Given the description of an element on the screen output the (x, y) to click on. 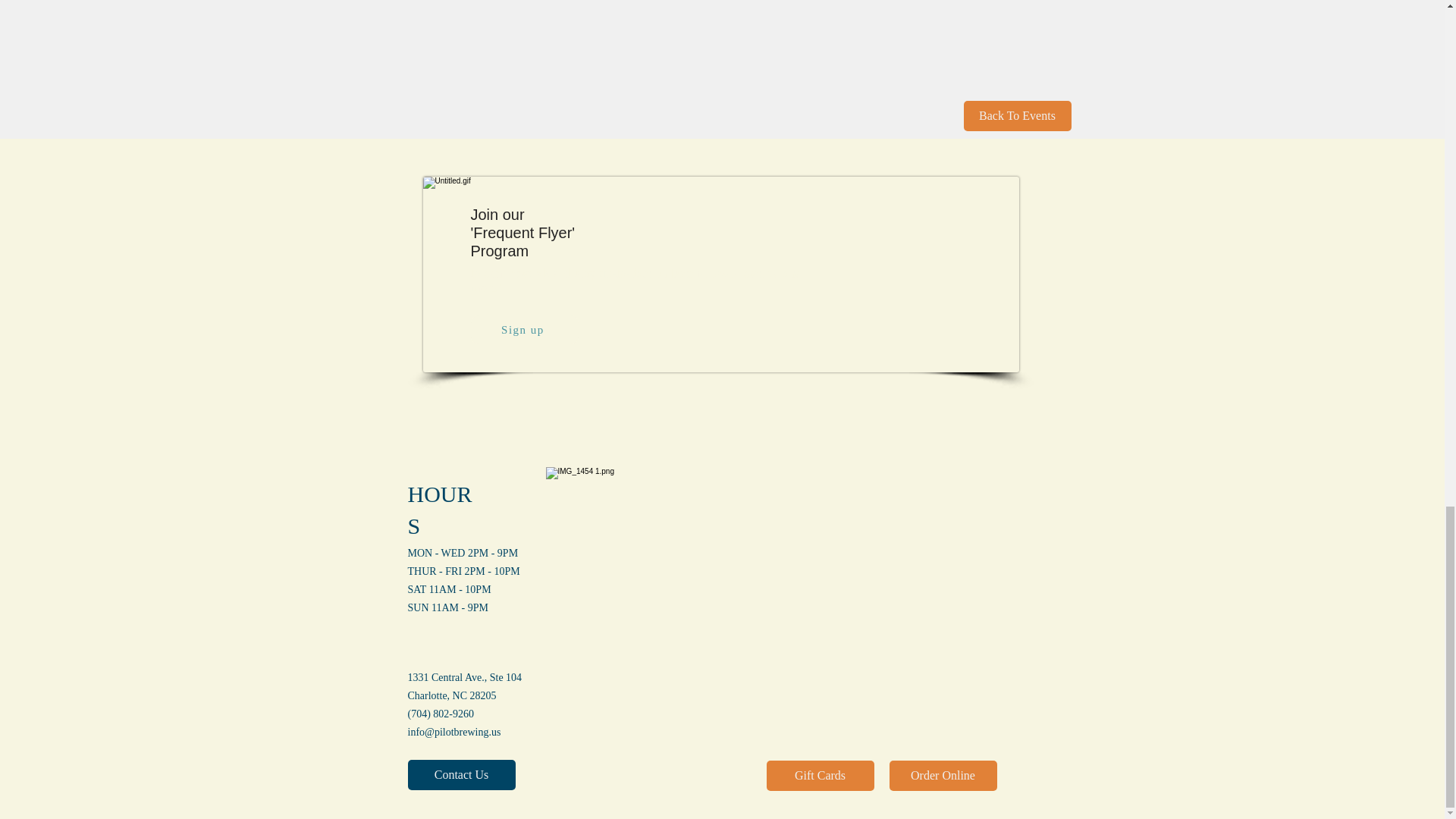
Contact Us (461, 775)
sign up (721, 274)
Sign up (524, 329)
Order Online (941, 775)
Gift Cards (819, 775)
Back To Events (1016, 115)
